Given the description of an element on the screen output the (x, y) to click on. 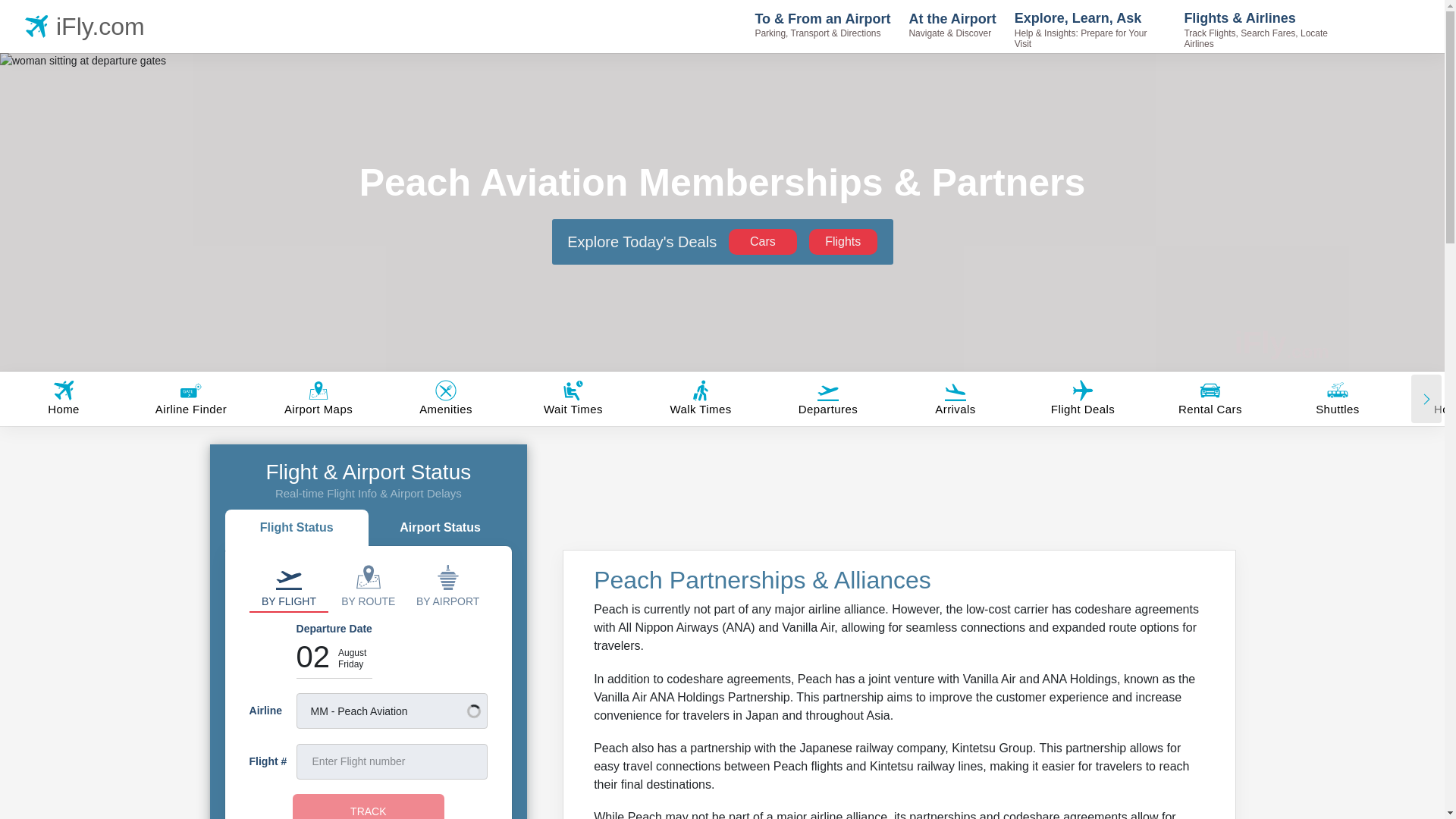
By Airport (447, 584)
Flight Status (296, 529)
Airport Status (440, 529)
Cars (762, 241)
By Route (368, 584)
iFly.com (88, 26)
Flights (843, 241)
iFly.com (1281, 342)
By Flight (288, 584)
